Given the description of an element on the screen output the (x, y) to click on. 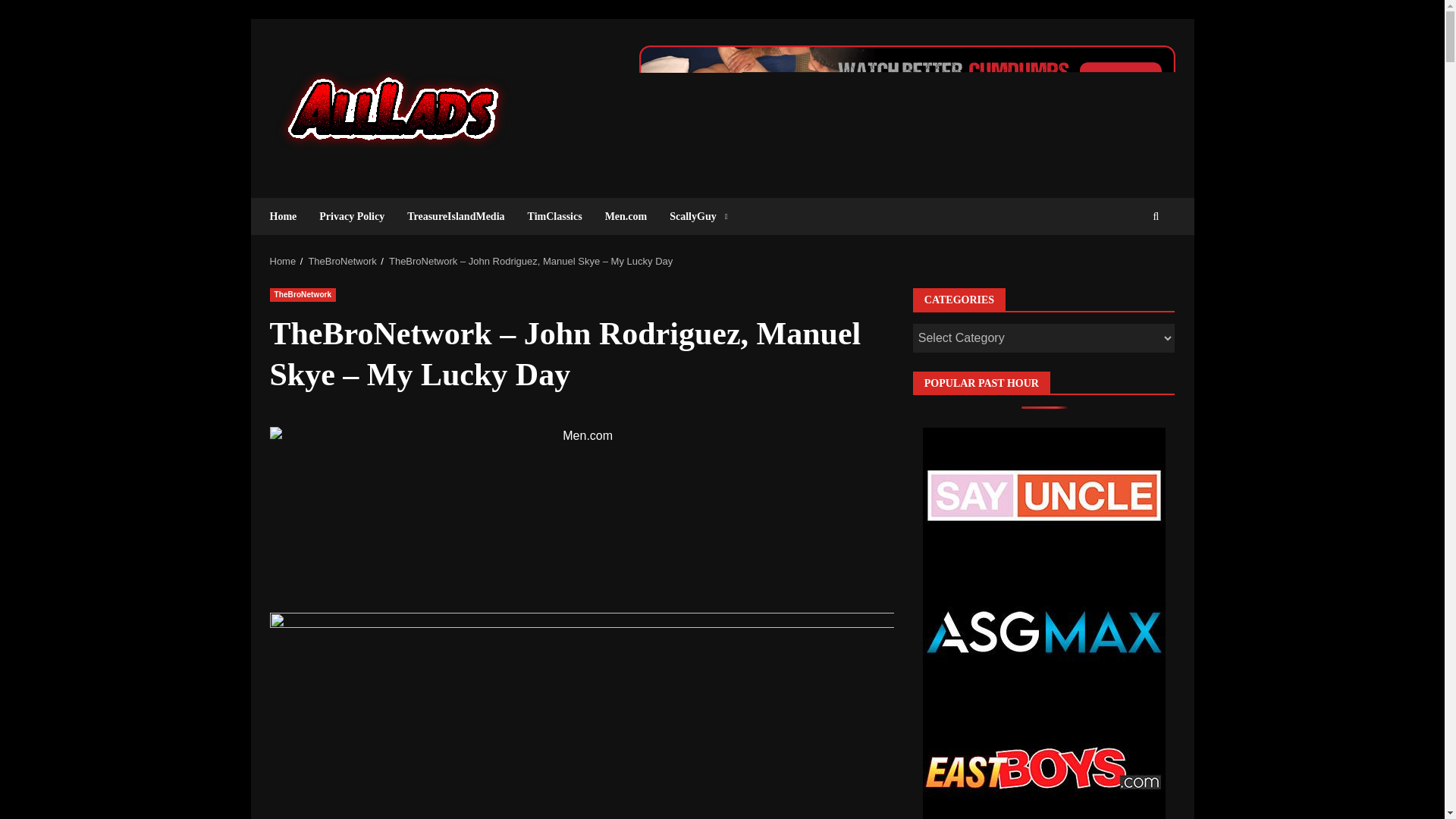
Home (283, 260)
Search (1128, 262)
ScallyGuy (692, 216)
Home (288, 216)
TreasureIslandMedia (455, 216)
TheBroNetwork (341, 260)
TimClassics (555, 216)
Men.com (626, 216)
Privacy Policy (351, 216)
TheBroNetwork (302, 295)
